Given the description of an element on the screen output the (x, y) to click on. 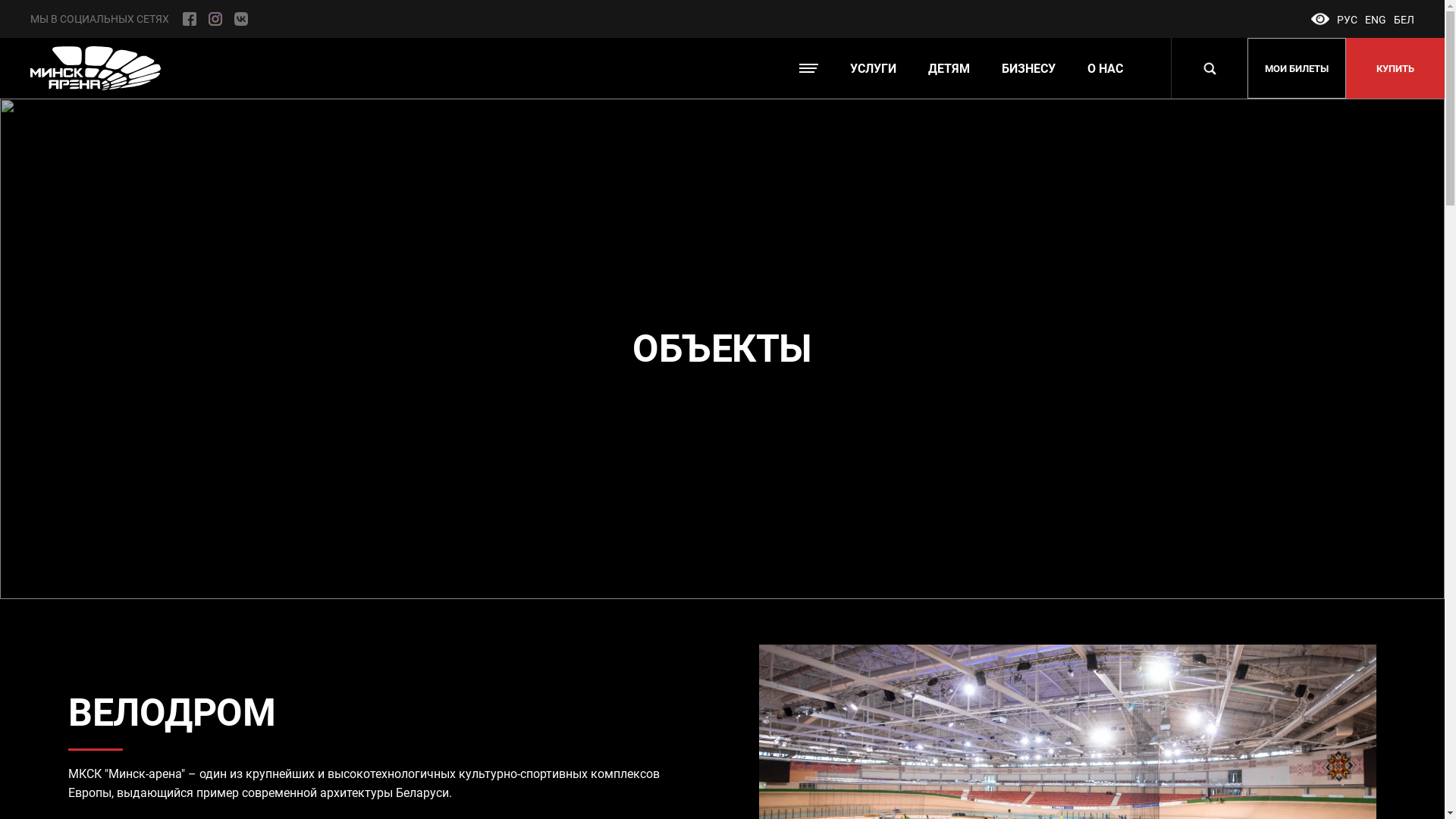
ENG Element type: text (1375, 19)
